Given the description of an element on the screen output the (x, y) to click on. 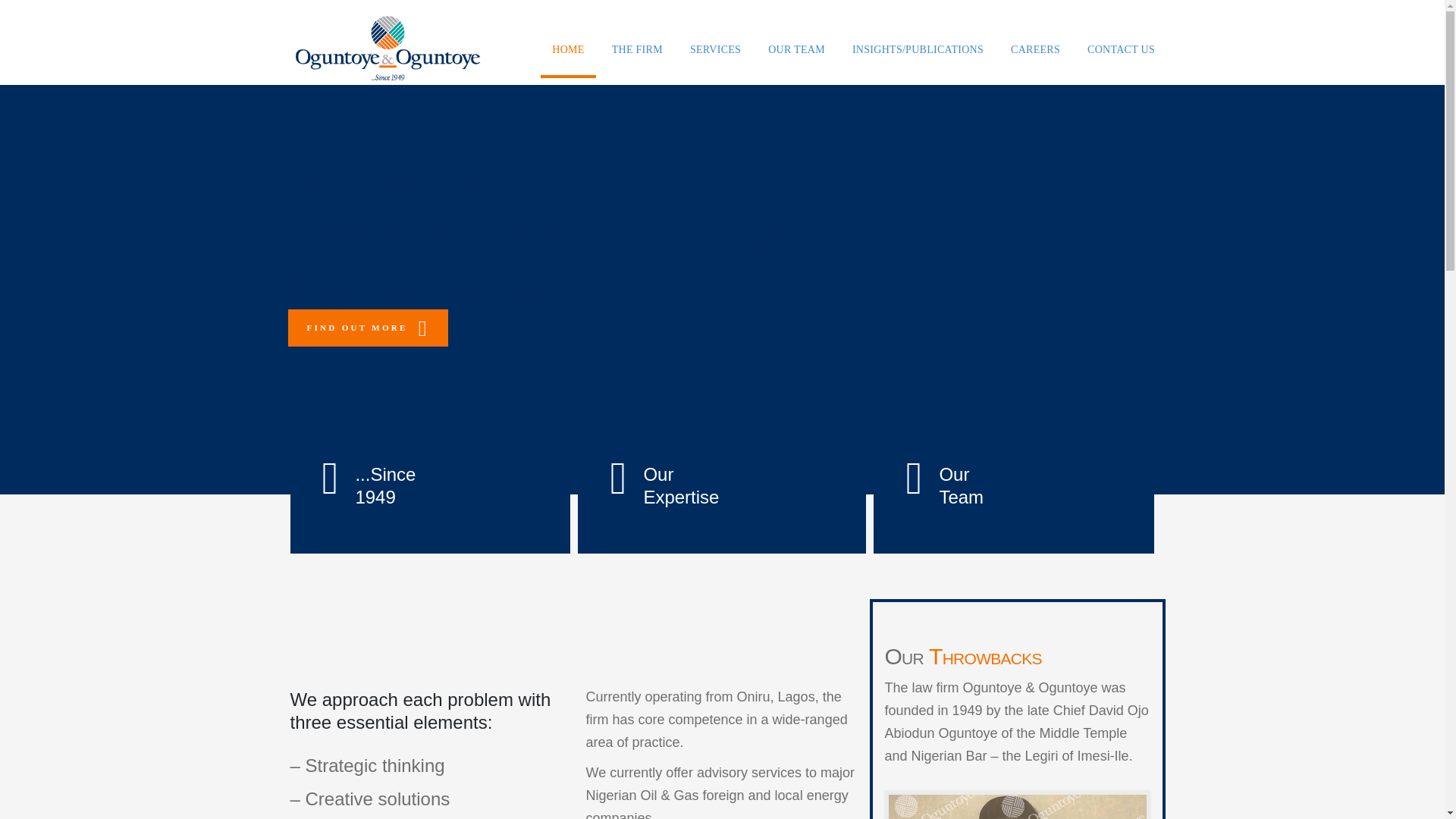
Our Team (797, 49)
OUR TEAM (797, 49)
Contact us (1121, 49)
Careers (1034, 49)
THE FIRM (636, 49)
CONTACT US (1121, 49)
SERVICES (715, 49)
Home (567, 49)
CAREERS (1034, 49)
FIND OUT MORE (368, 327)
The Firm (636, 49)
Services (715, 49)
HOME (567, 49)
